Given the description of an element on the screen output the (x, y) to click on. 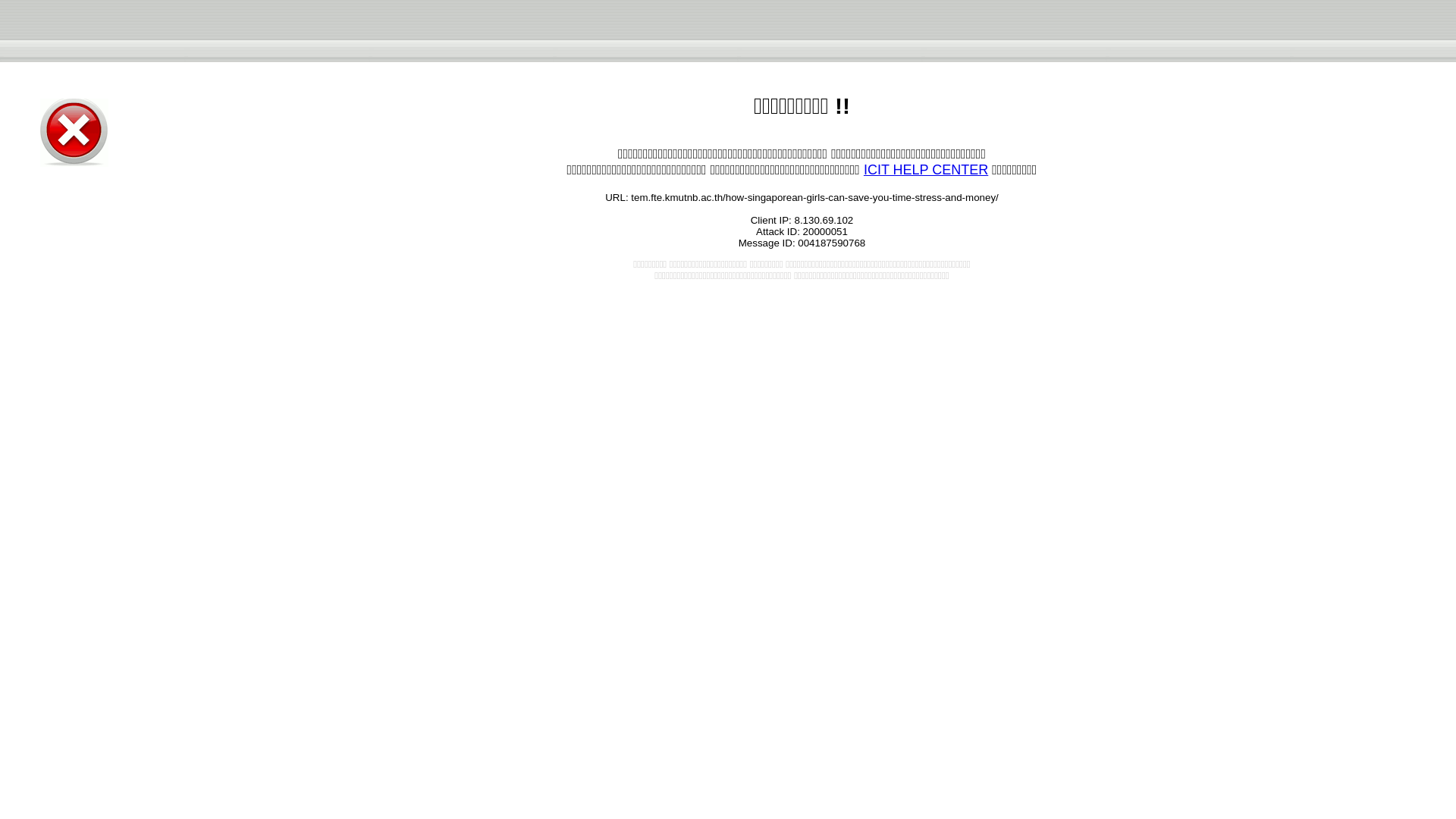
ICIT HELP CENTER (925, 169)
